Given the description of an element on the screen output the (x, y) to click on. 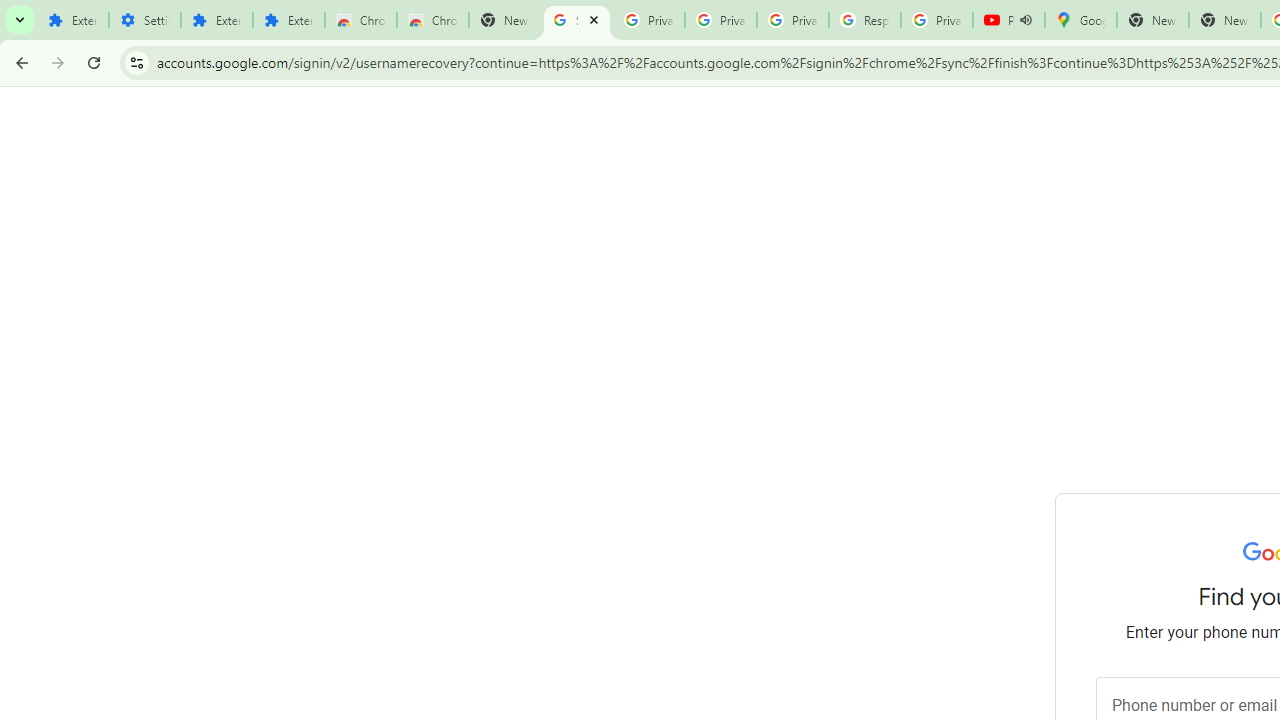
Personalized AI for you | Gemini - YouTube - Audio playing (1008, 20)
New Tab (1224, 20)
Extensions (289, 20)
Chrome Web Store (360, 20)
Extensions (72, 20)
